Given the description of an element on the screen output the (x, y) to click on. 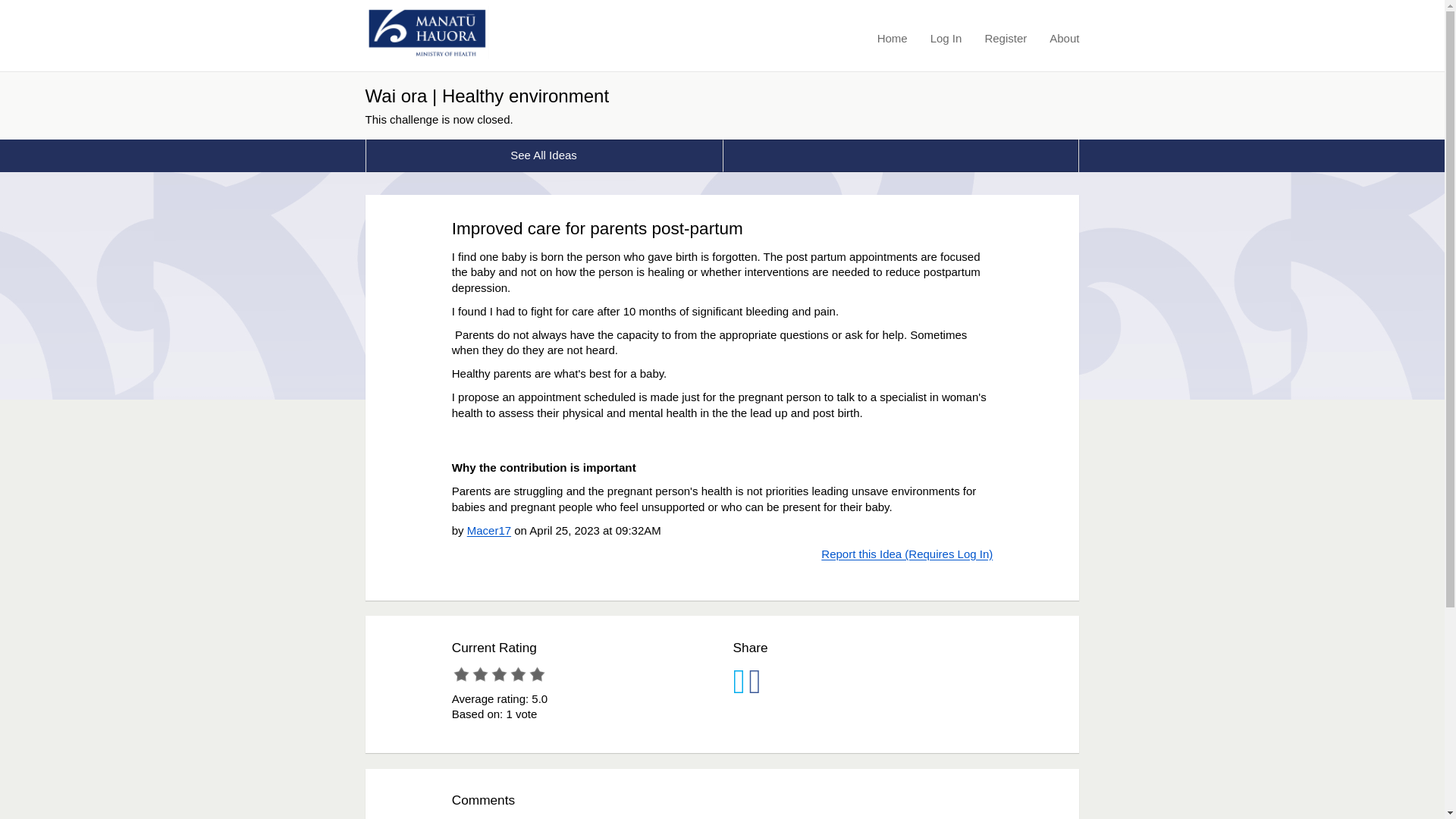
Log In (946, 38)
Share on Facebook (754, 688)
Share on Facebook (754, 688)
Register (1005, 38)
Home (892, 38)
See All Ideas (544, 155)
Share on Twitter (739, 688)
Macer17 (489, 530)
Share on Twitter (739, 688)
